Given the description of an element on the screen output the (x, y) to click on. 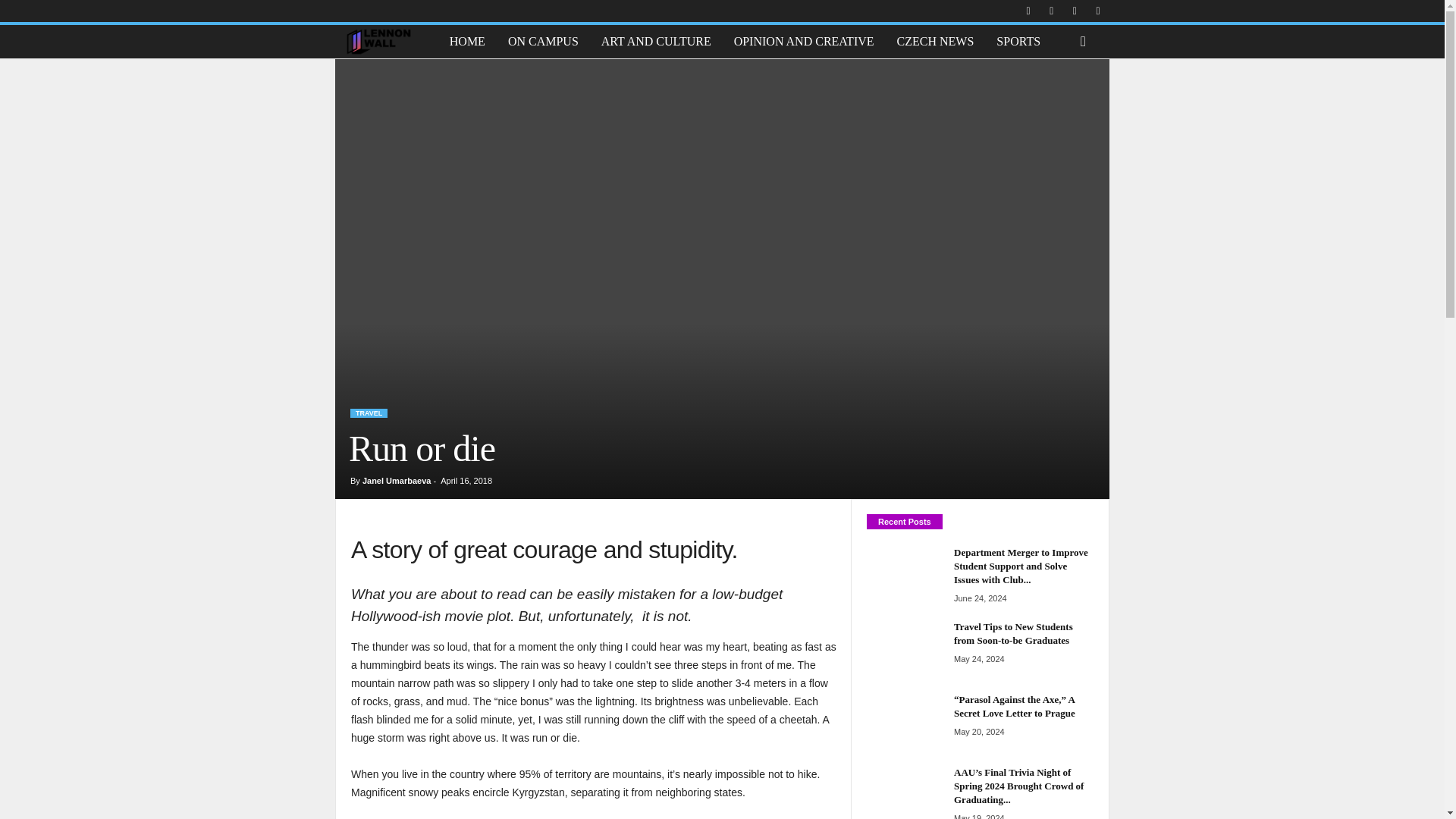
Lennon Wall (386, 41)
HOME (467, 41)
OPINION AND CREATIVE (803, 41)
Travel Tips to New Students from Soon-to-be Graduates (904, 648)
Anglo-American University Student Magazine (378, 41)
Travel Tips to New Students from Soon-to-be Graduates (1013, 633)
ON CAMPUS (542, 41)
ART AND CULTURE (655, 41)
